Given the description of an element on the screen output the (x, y) to click on. 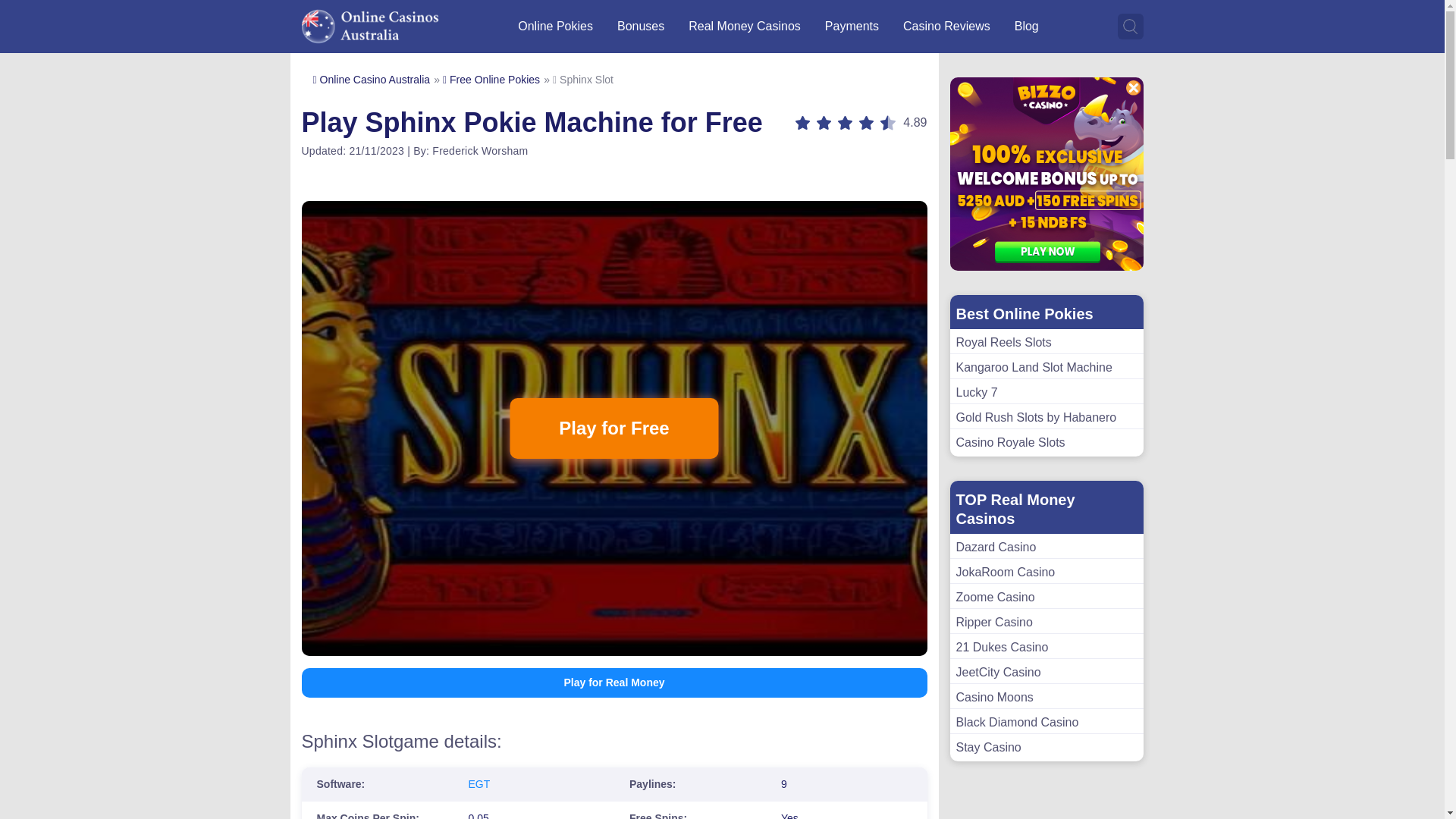
Bonuses (640, 26)
Online Pokies (555, 26)
Casino Reviews (946, 26)
Real Money Casinos (744, 26)
Payments (852, 26)
